Given the description of an element on the screen output the (x, y) to click on. 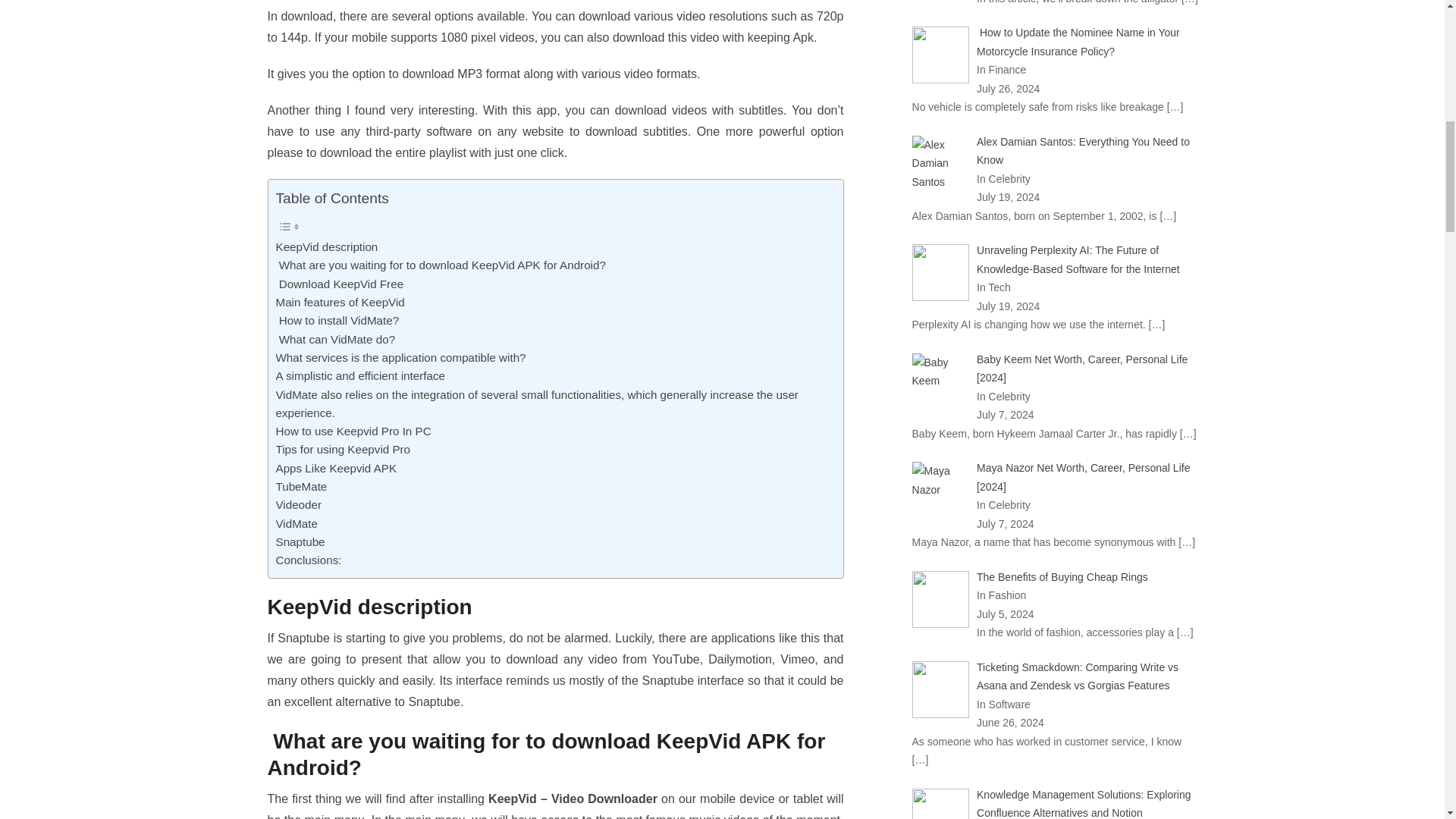
A simplistic and efficient interface (360, 375)
What services is the application compatible with? (400, 357)
KeepVid description (327, 247)
Main features of KeepVid (340, 302)
